Given the description of an element on the screen output the (x, y) to click on. 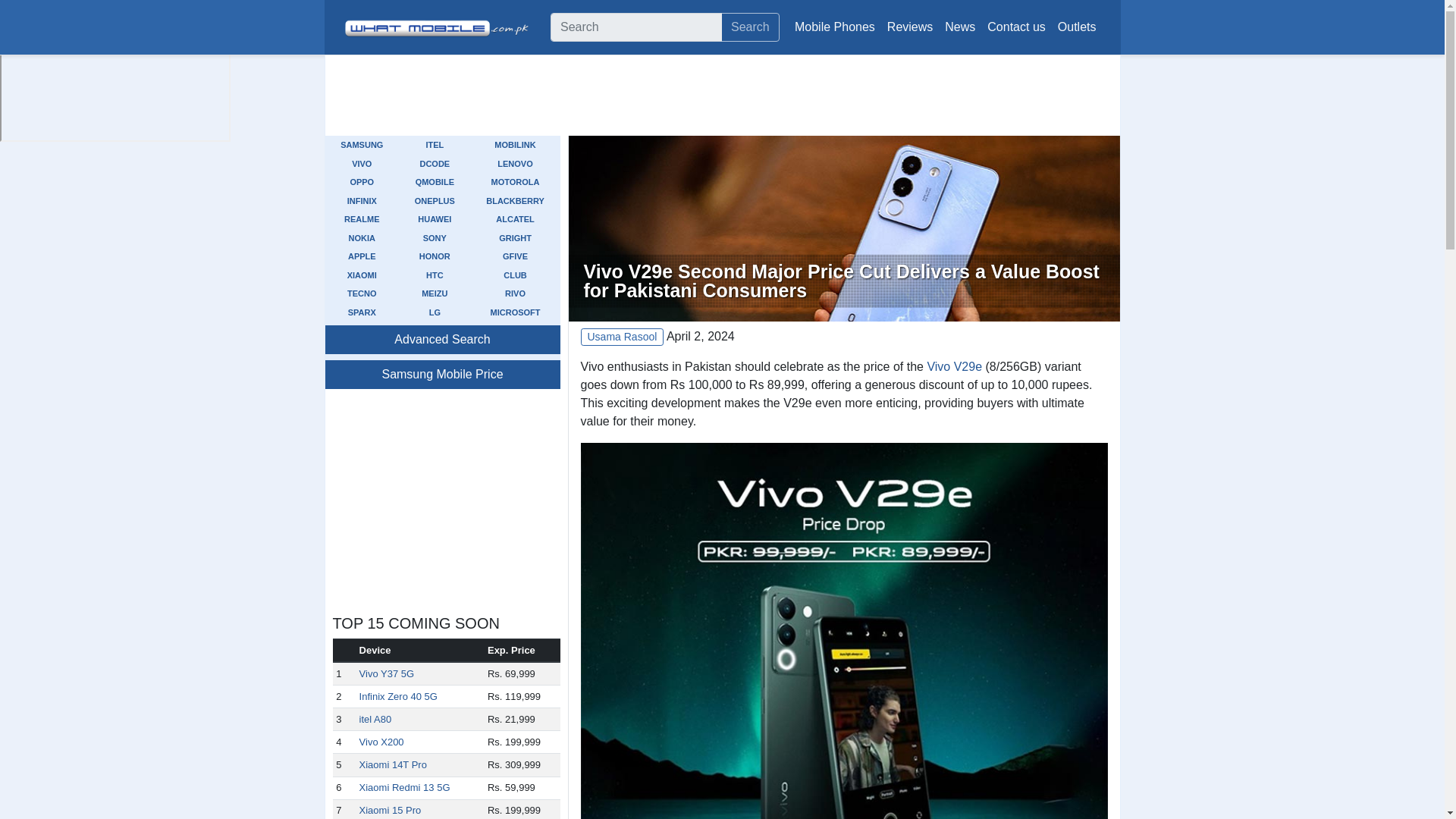
Contact us (1016, 27)
Search (749, 27)
Reviews (909, 27)
Outlets (1076, 27)
Advertisement (843, 95)
News (960, 27)
Mobile Phones (834, 27)
